Given the description of an element on the screen output the (x, y) to click on. 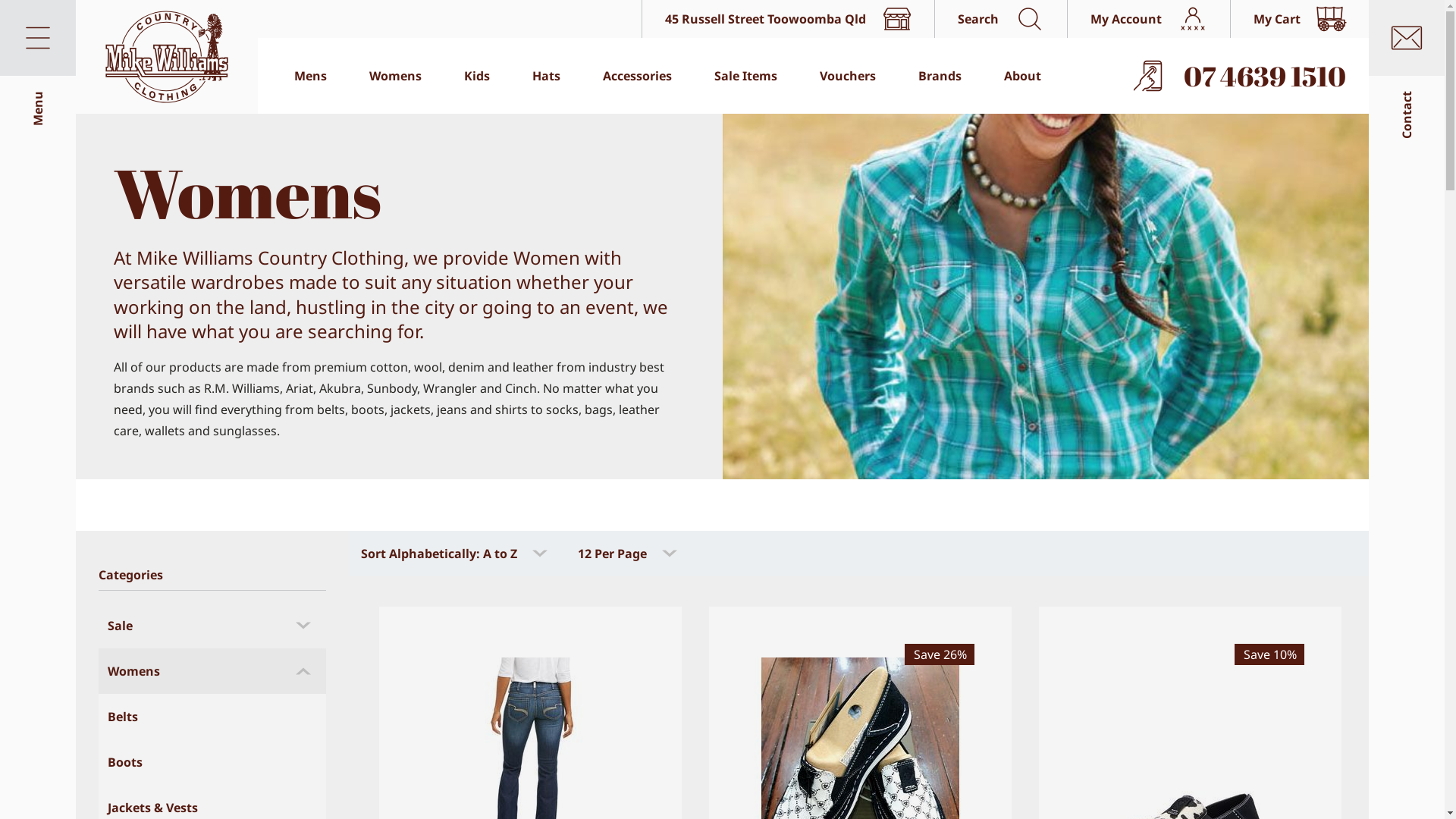
My Account Element type: text (1148, 18)
Womens Element type: text (212, 670)
Sale Element type: text (212, 625)
Brands Element type: text (939, 75)
Menu Element type: text (37, 37)
Sale Items Element type: text (745, 75)
Accessories Element type: text (637, 75)
12 Per Page Element type: text (628, 553)
Hats Element type: text (546, 75)
Search Element type: text (1000, 18)
07 4639 1510 Element type: text (1241, 75)
45 Russell Street Toowoomba Qld Element type: text (787, 18)
Boots Element type: text (212, 761)
Contact Element type: text (1406, 37)
Sort Alphabetically: A to Z Element type: text (455, 553)
Mens Element type: text (310, 75)
Vouchers Element type: text (847, 75)
Womens Element type: text (395, 75)
Belts Element type: text (212, 716)
My Cart Element type: text (1299, 18)
About Element type: text (1022, 75)
Kids Element type: text (476, 75)
